Given the description of an element on the screen output the (x, y) to click on. 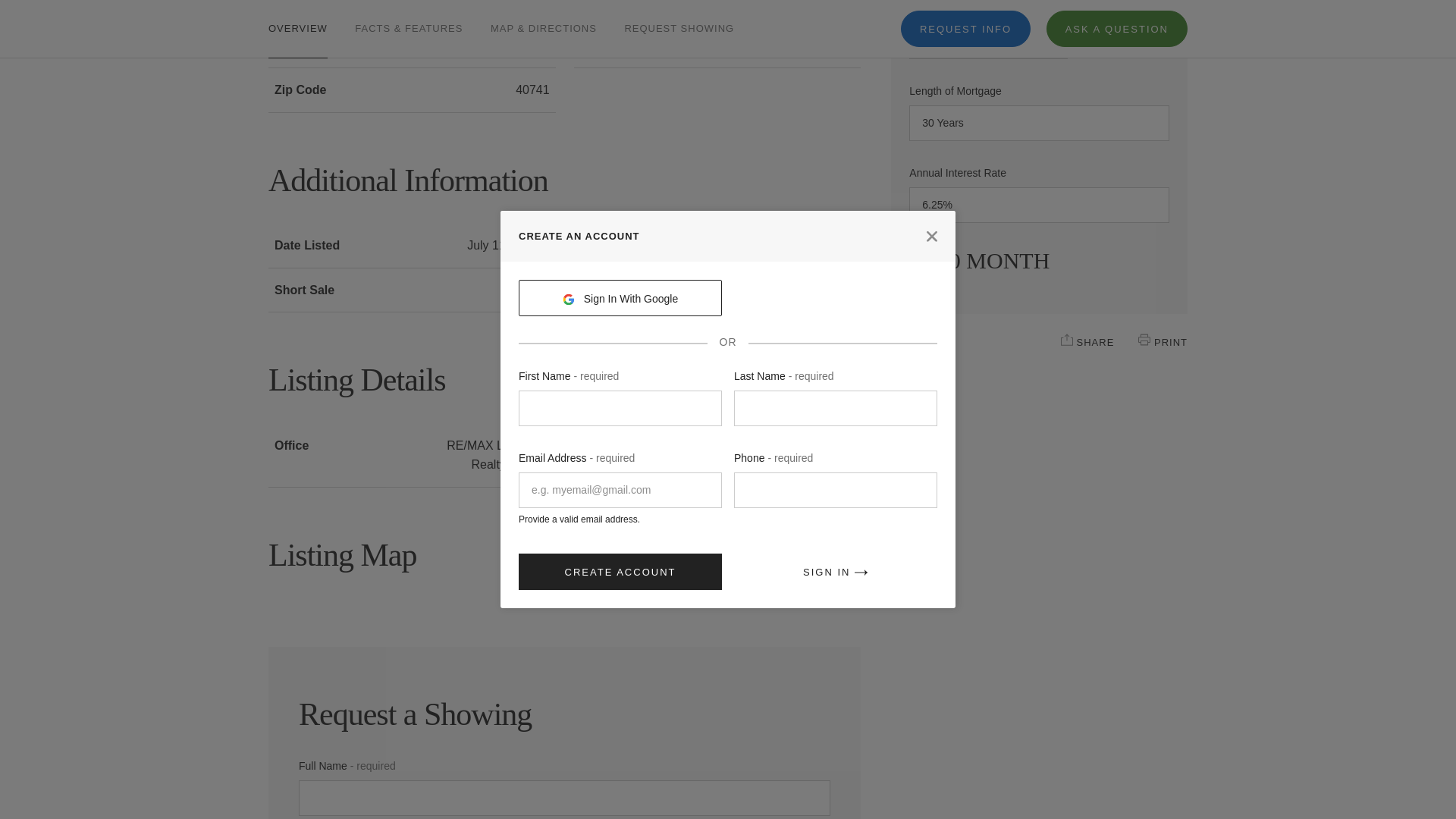
SHARE (1067, 339)
PRINT (1144, 339)
